Given the description of an element on the screen output the (x, y) to click on. 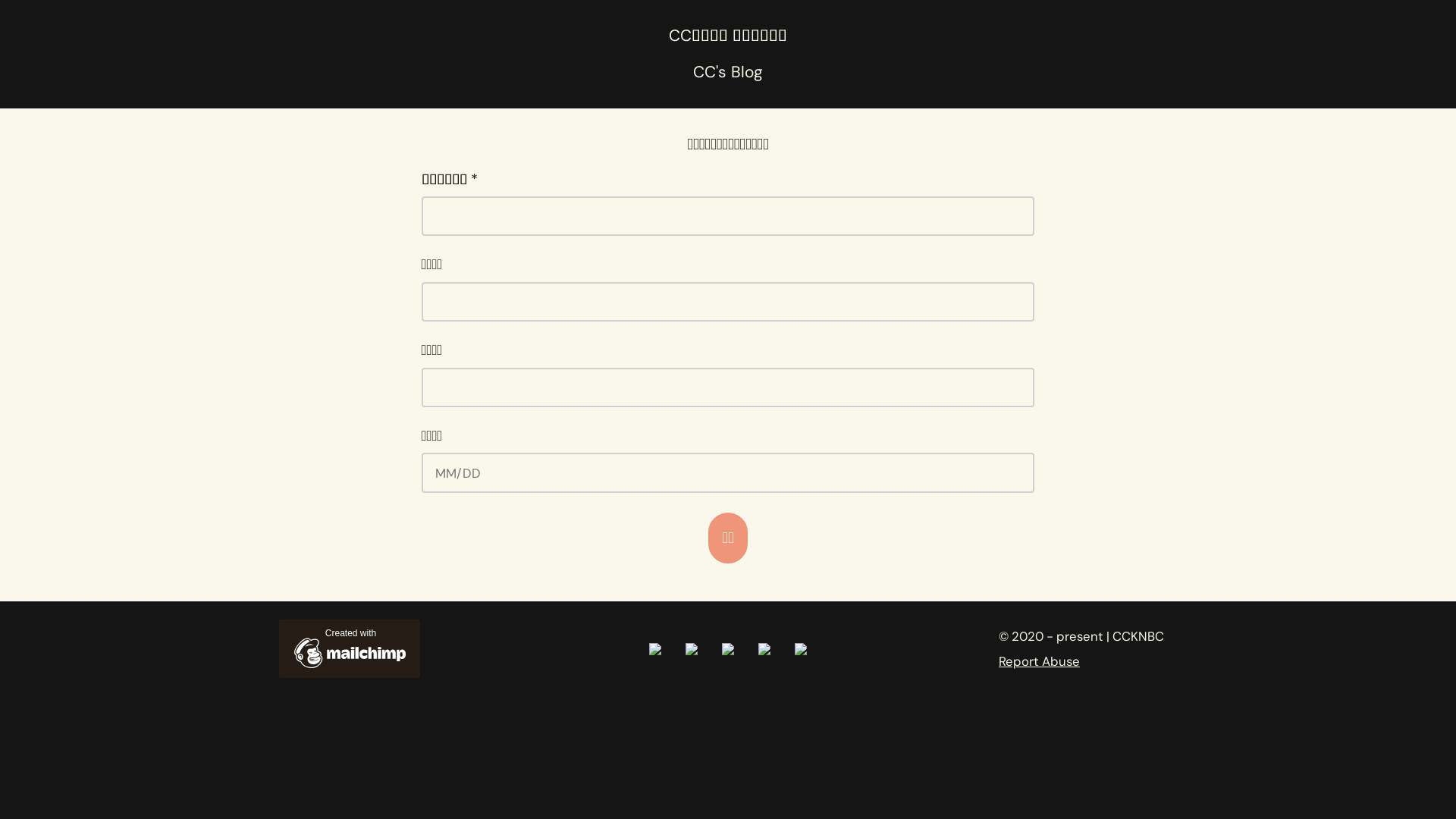
Report Abuse Element type: text (1038, 660)
CC's Blog Element type: text (727, 70)
